Given the description of an element on the screen output the (x, y) to click on. 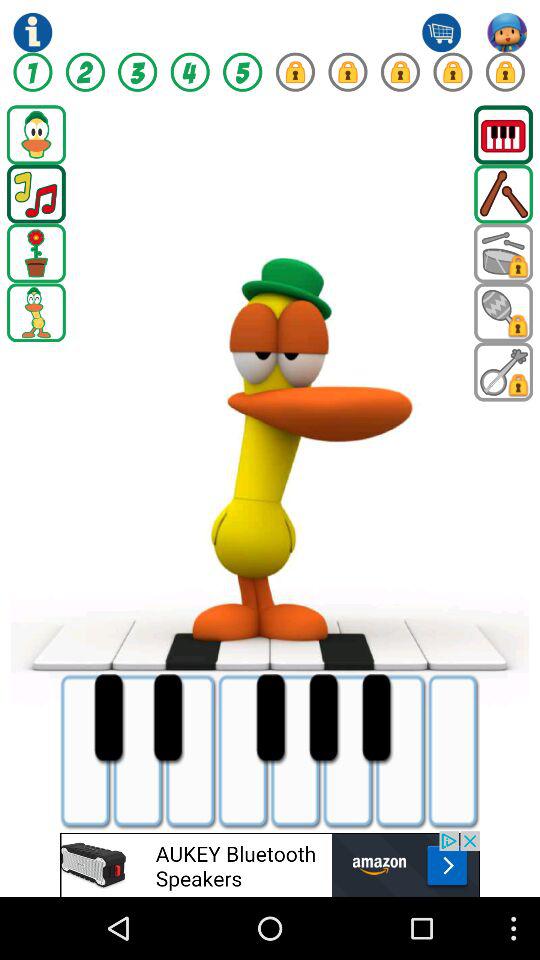
go to level 2 (85, 71)
